Given the description of an element on the screen output the (x, y) to click on. 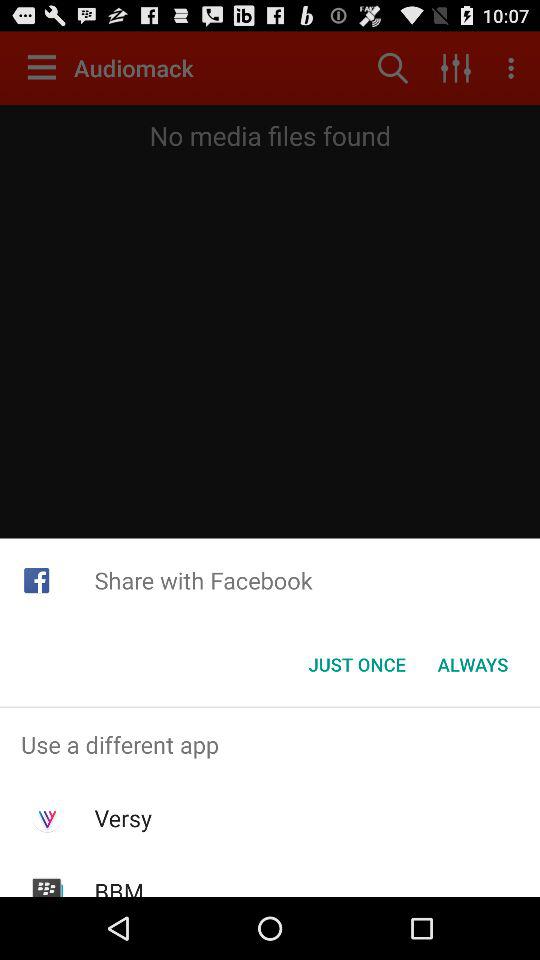
tap the always icon (472, 664)
